Given the description of an element on the screen output the (x, y) to click on. 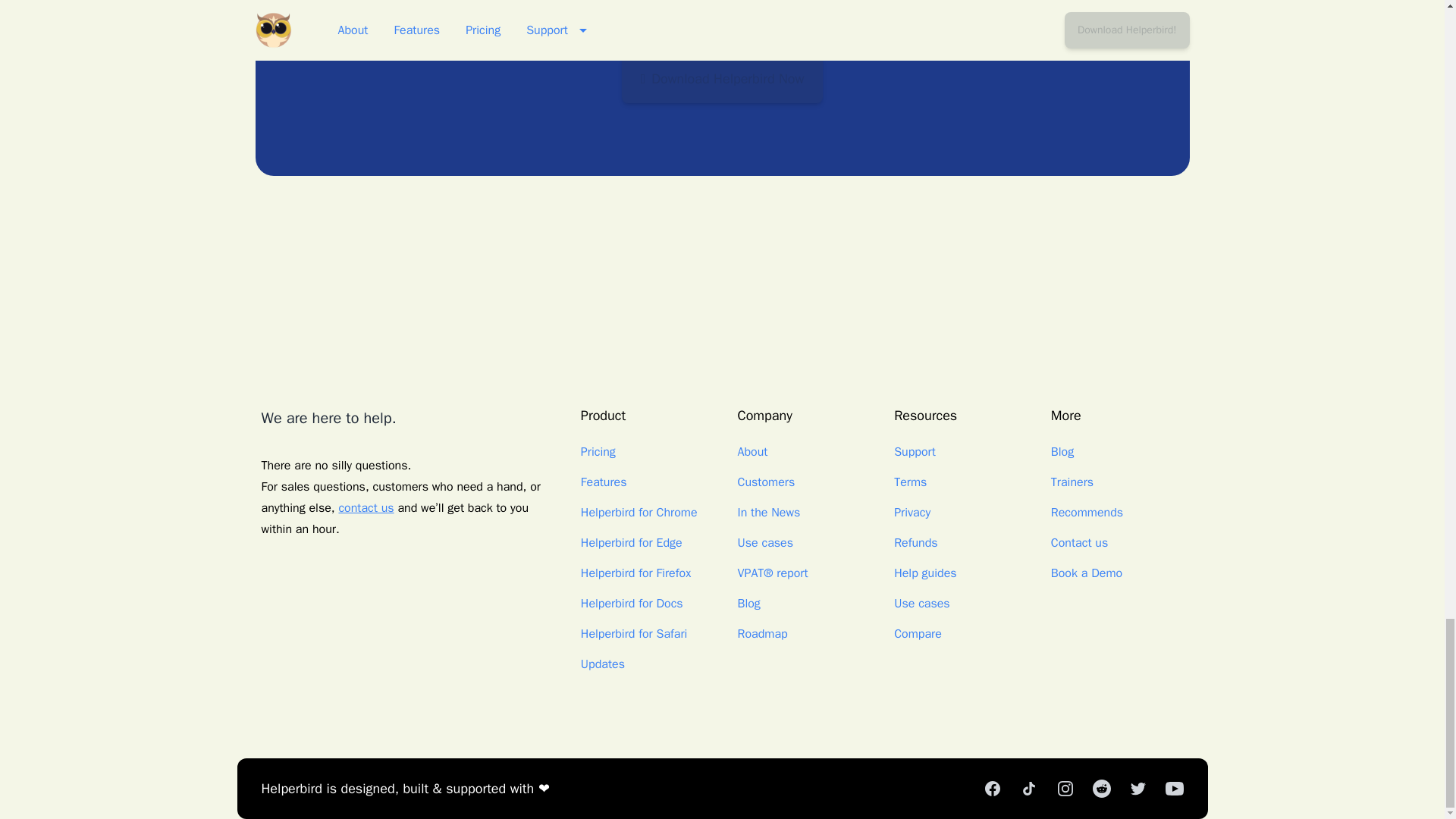
Updates (602, 663)
Features (603, 482)
Privacy (911, 512)
In the News (767, 512)
View the pricing plans for Helperbird (597, 451)
Learn more about Helperbird's Firefox extension (635, 572)
Pricing (597, 451)
Get in touch with the Helperbird team (365, 507)
About (751, 451)
Learn more about Helperbird's Chrome extension (638, 512)
